Given the description of an element on the screen output the (x, y) to click on. 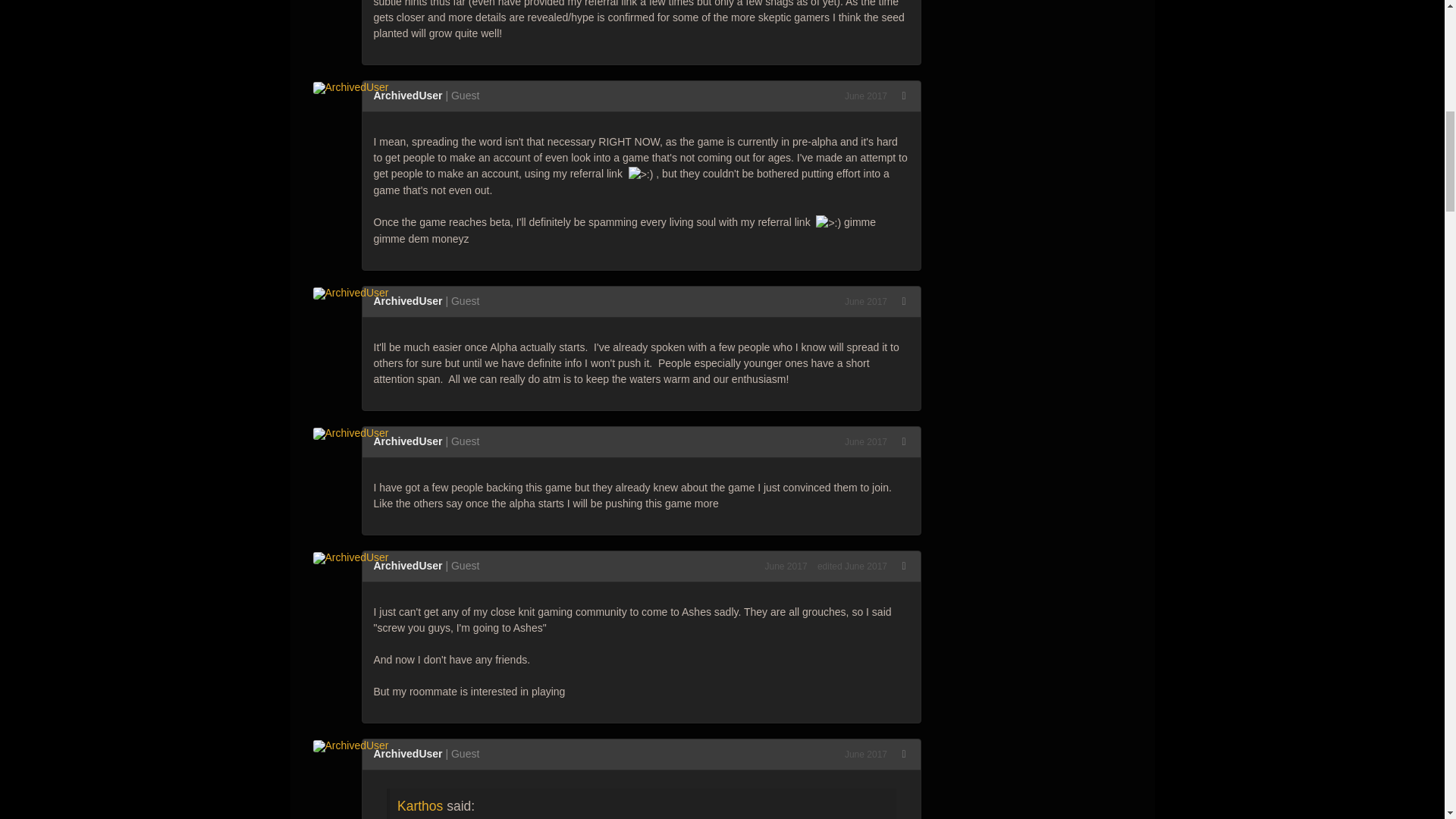
June 2017 (865, 301)
June 2017 (865, 95)
ArchivedUser (407, 300)
ArchivedUser (407, 95)
